Given the description of an element on the screen output the (x, y) to click on. 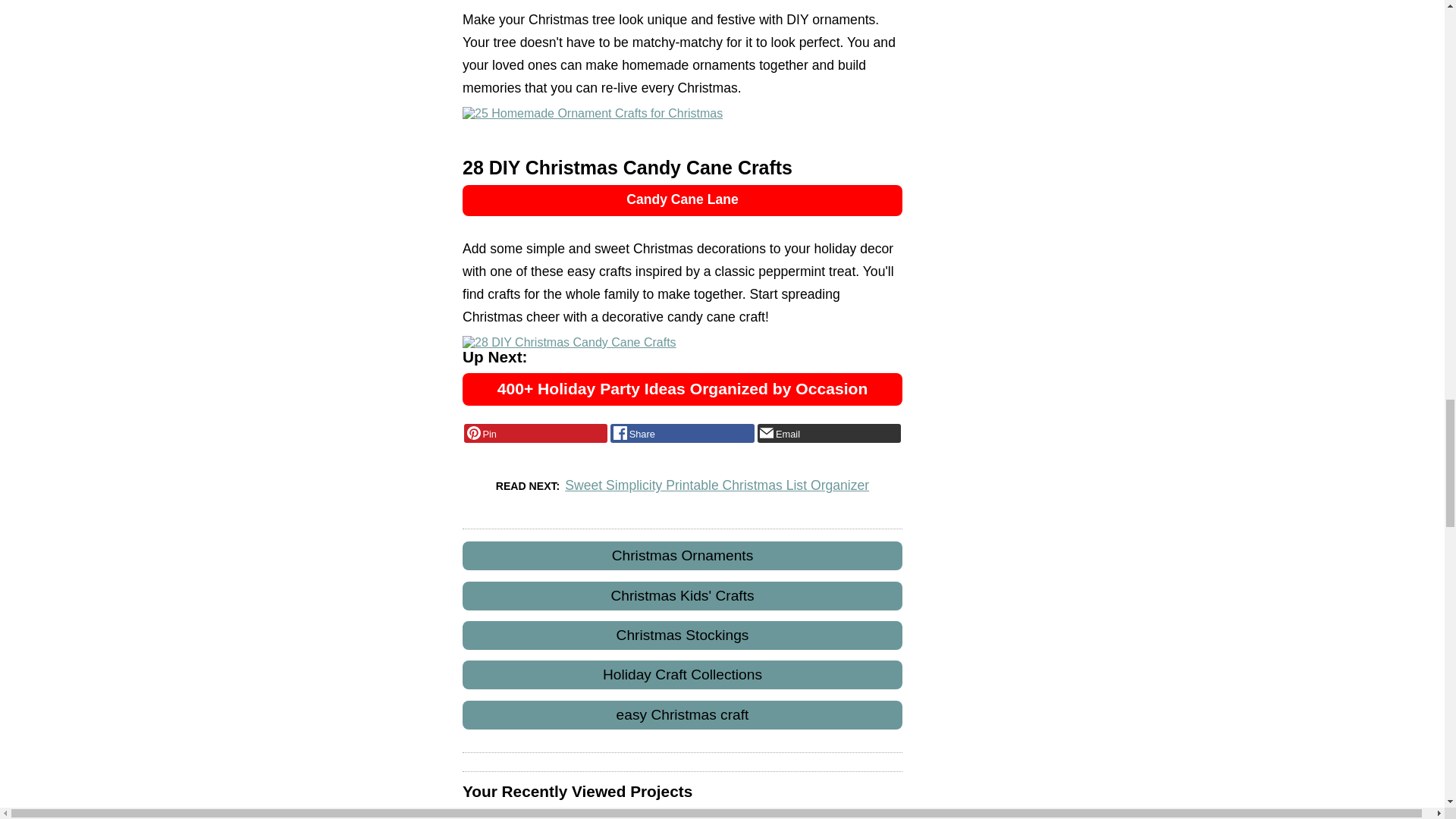
Facebook (682, 433)
25 Homemade Ornament Crafts for Christmas (592, 113)
28 DIY Christmas Candy Cane Crafts (570, 342)
